Given the description of an element on the screen output the (x, y) to click on. 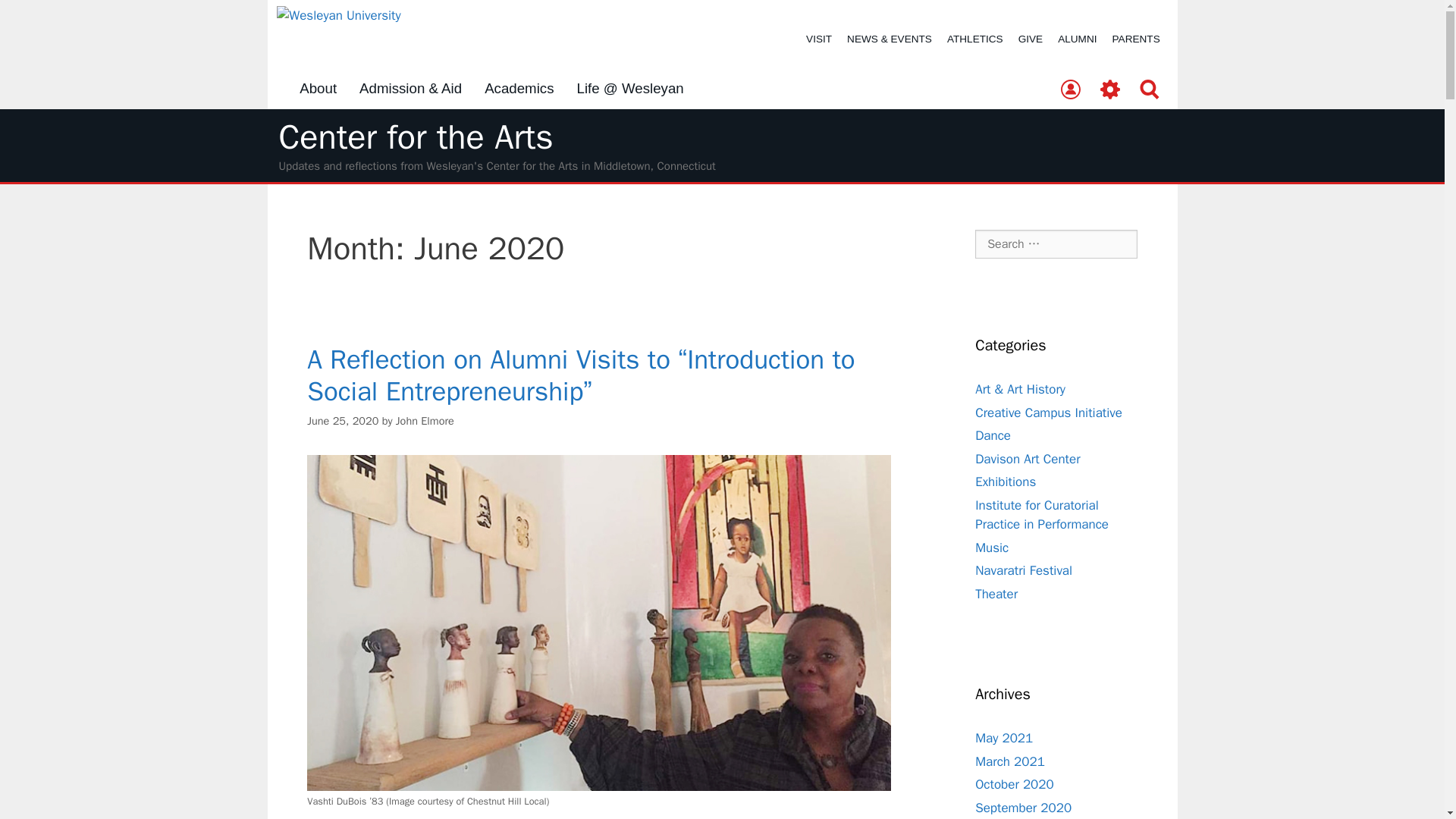
Academics (518, 89)
ATHLETICS (974, 39)
Directory (1069, 90)
Tools (1109, 90)
Search for: (1056, 244)
Center for the Arts (416, 137)
PARENTS (1136, 39)
View all posts by John Elmore (425, 420)
About (317, 89)
John Elmore (425, 420)
Search (1149, 90)
VISIT (818, 39)
ALUMNI (1076, 39)
GIVE (1029, 39)
